Given the description of an element on the screen output the (x, y) to click on. 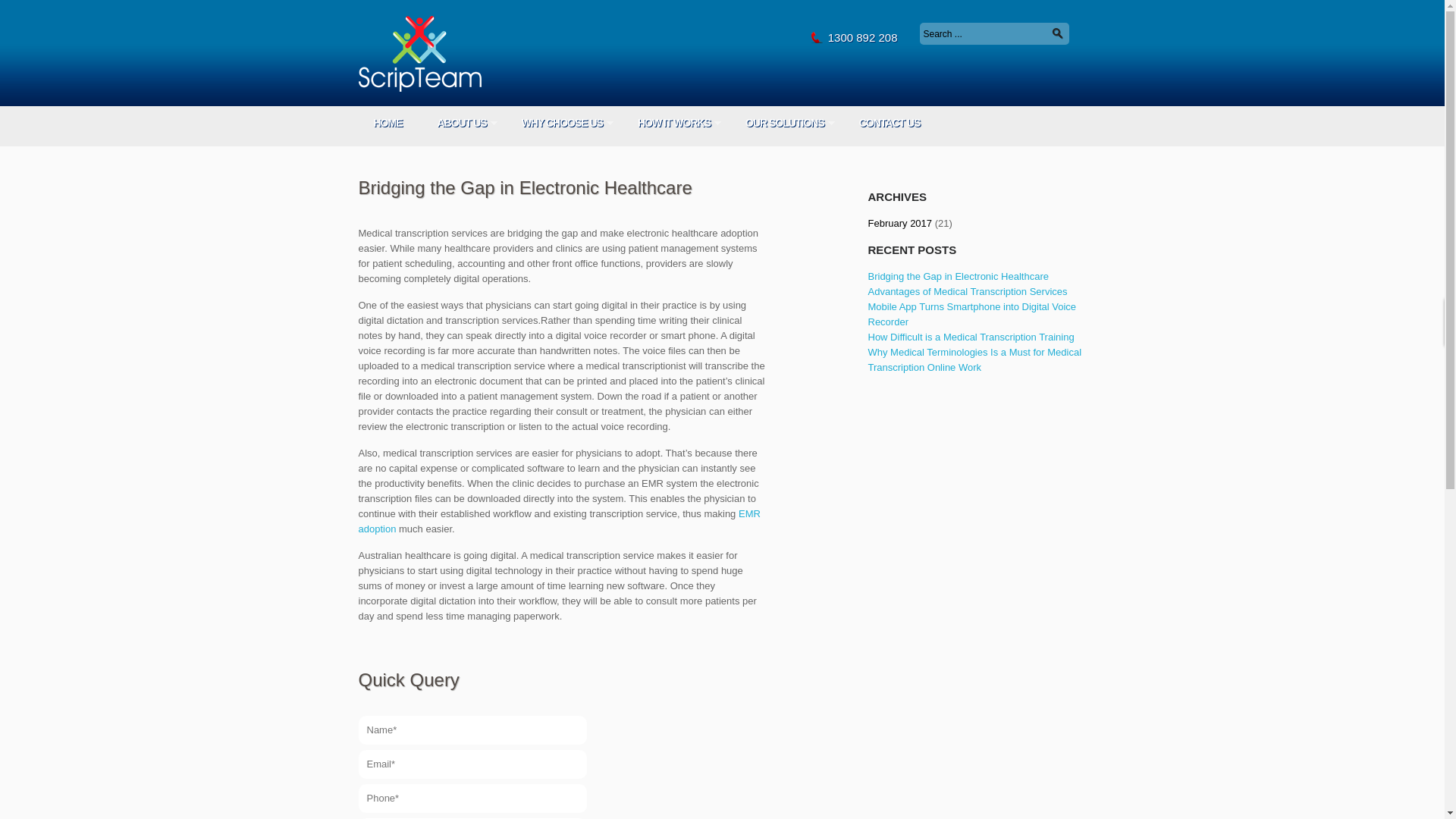
ABOUT US (461, 122)
Mobile App Turns Smartphone into Digital Voice Recorder (971, 314)
Bridging the Gap in Electronic Healthcare (957, 276)
WHY CHOOSE US (561, 122)
1300 892 208 (863, 37)
Advantages of Medical Transcription Services (967, 291)
Home (419, 55)
HOME (387, 122)
HOW IT WORKS (674, 122)
